Given the description of an element on the screen output the (x, y) to click on. 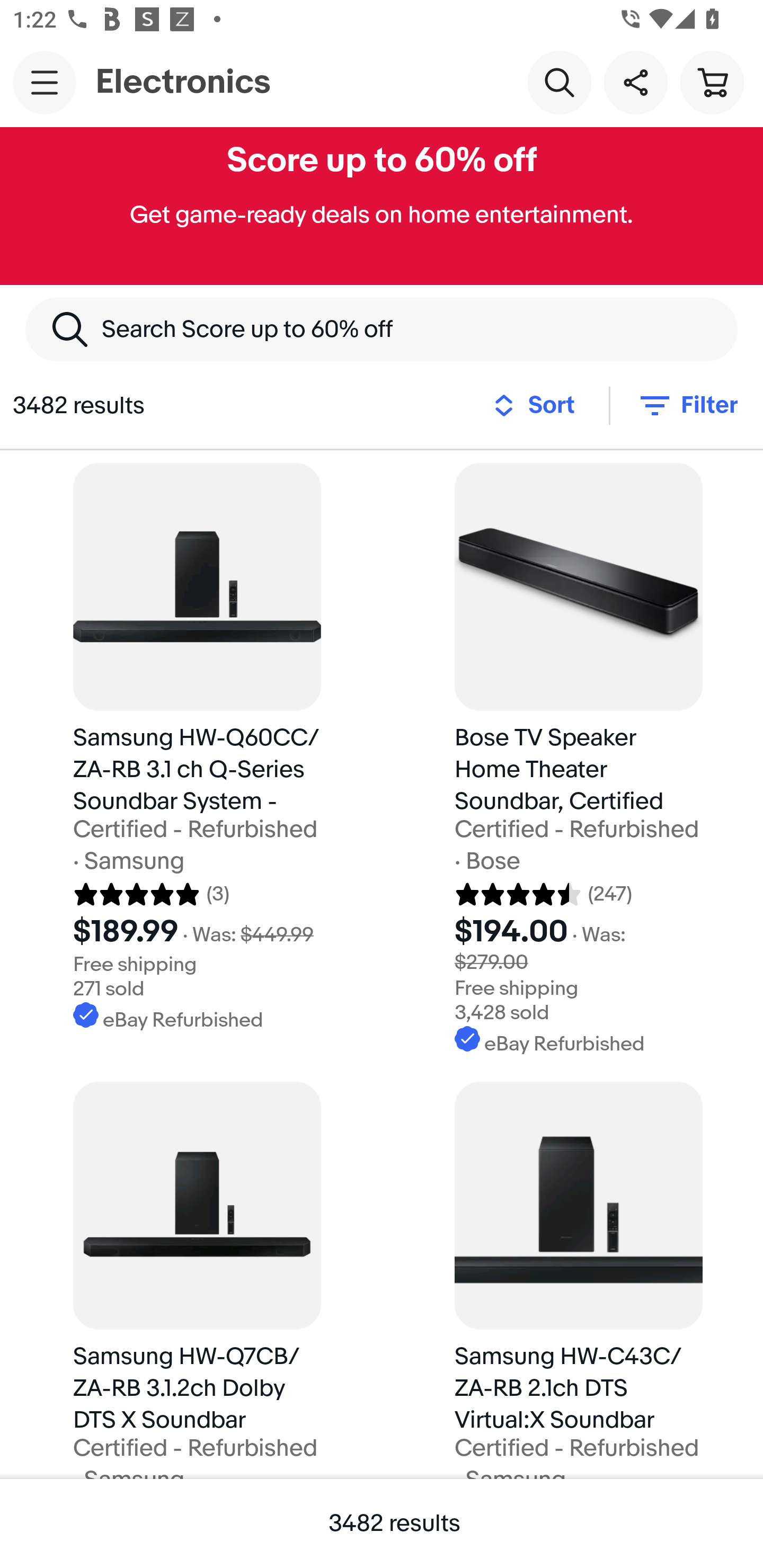
Main navigation, open (44, 82)
Search (559, 81)
Share this page (635, 81)
Cart button shopping cart (711, 81)
Search Score up to 60% off (381, 328)
Sort (538, 405)
Filter (686, 405)
